Given the description of an element on the screen output the (x, y) to click on. 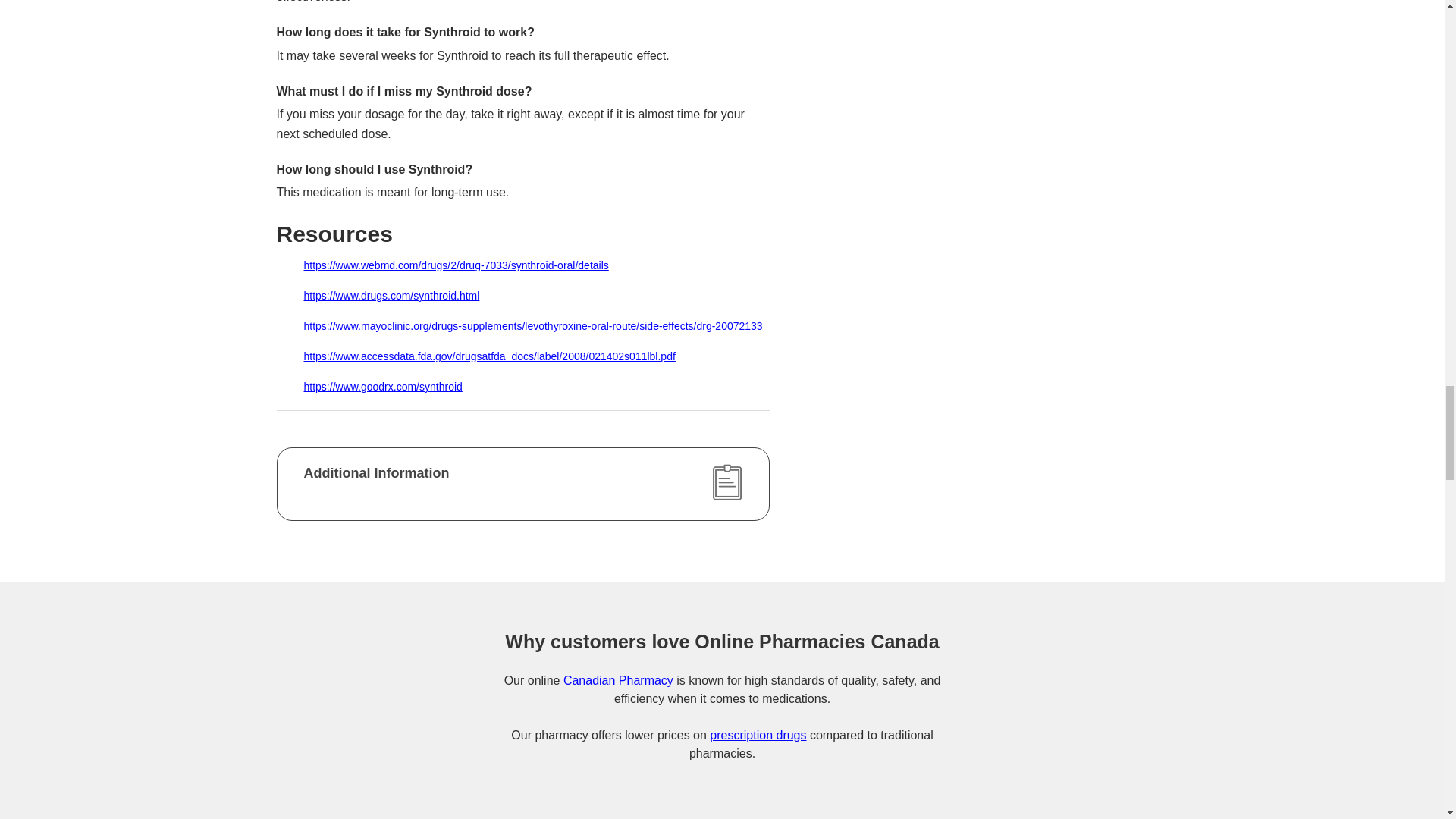
Canadian pharmacy (617, 680)
Prescription drugs from Canada (758, 735)
